Given the description of an element on the screen output the (x, y) to click on. 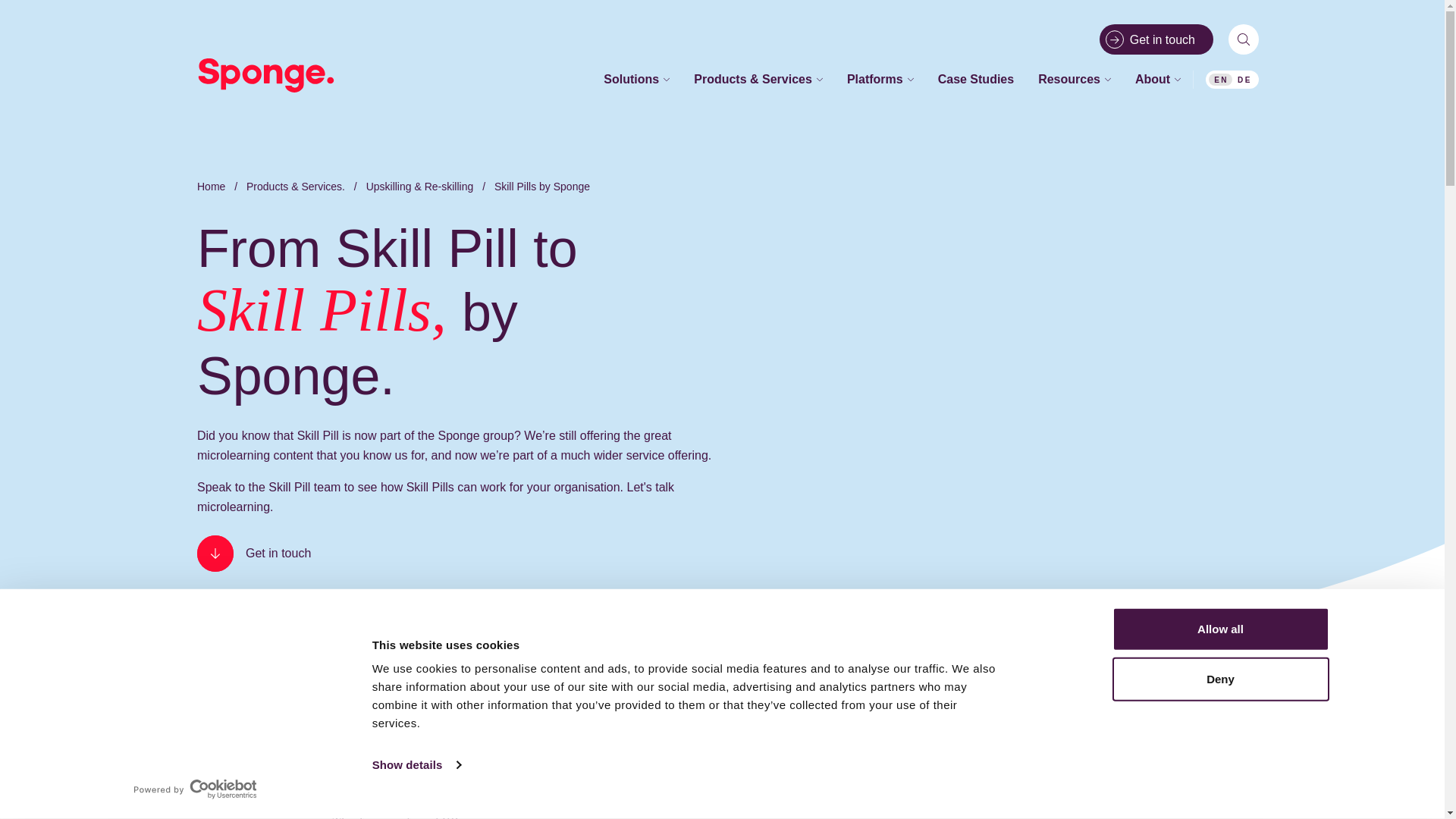
Show details (416, 764)
